Given the description of an element on the screen output the (x, y) to click on. 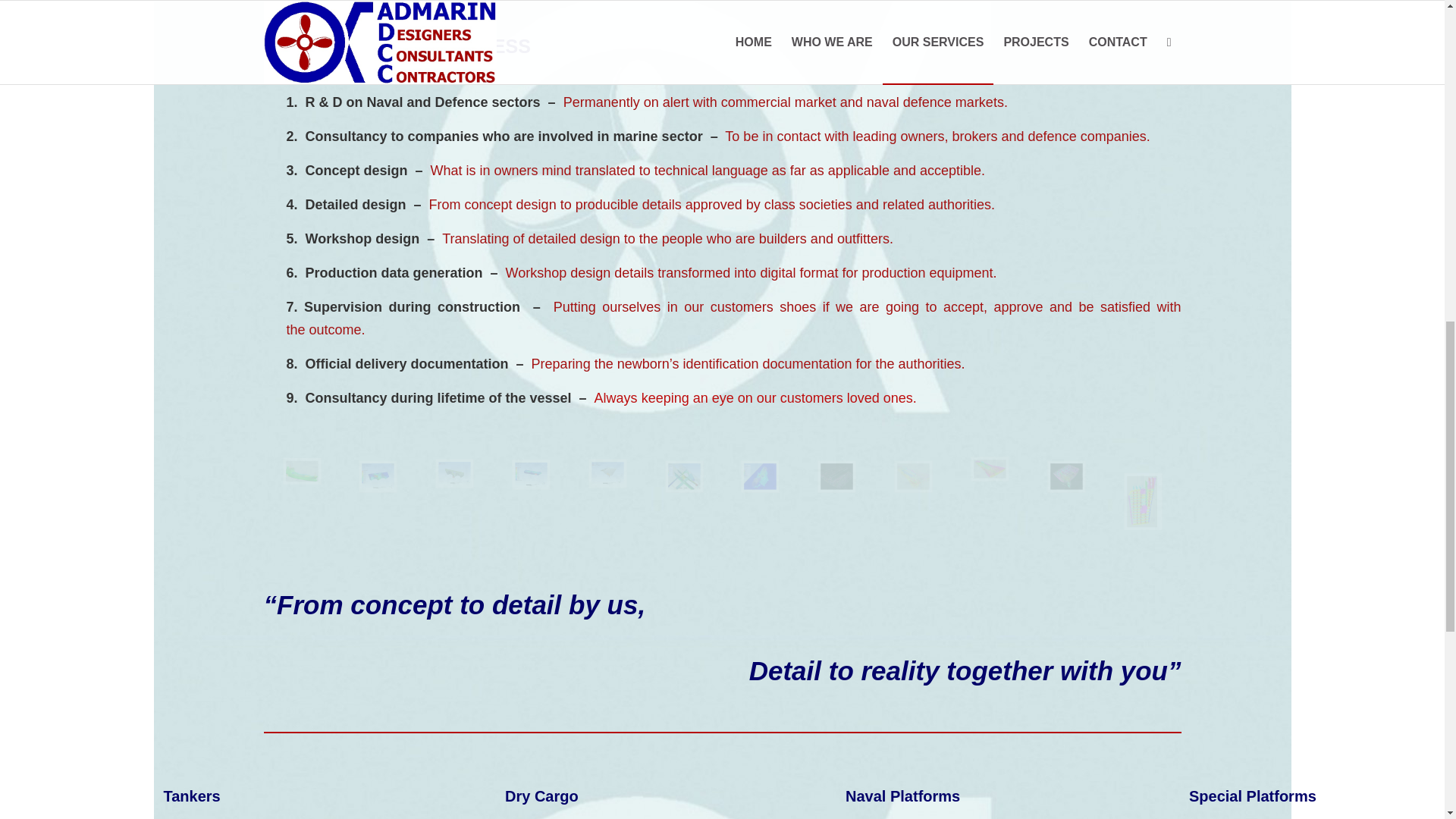
9 (320, 484)
6 (473, 487)
13 (397, 492)
5 (550, 489)
7 (703, 492)
4 (626, 487)
